Given the description of an element on the screen output the (x, y) to click on. 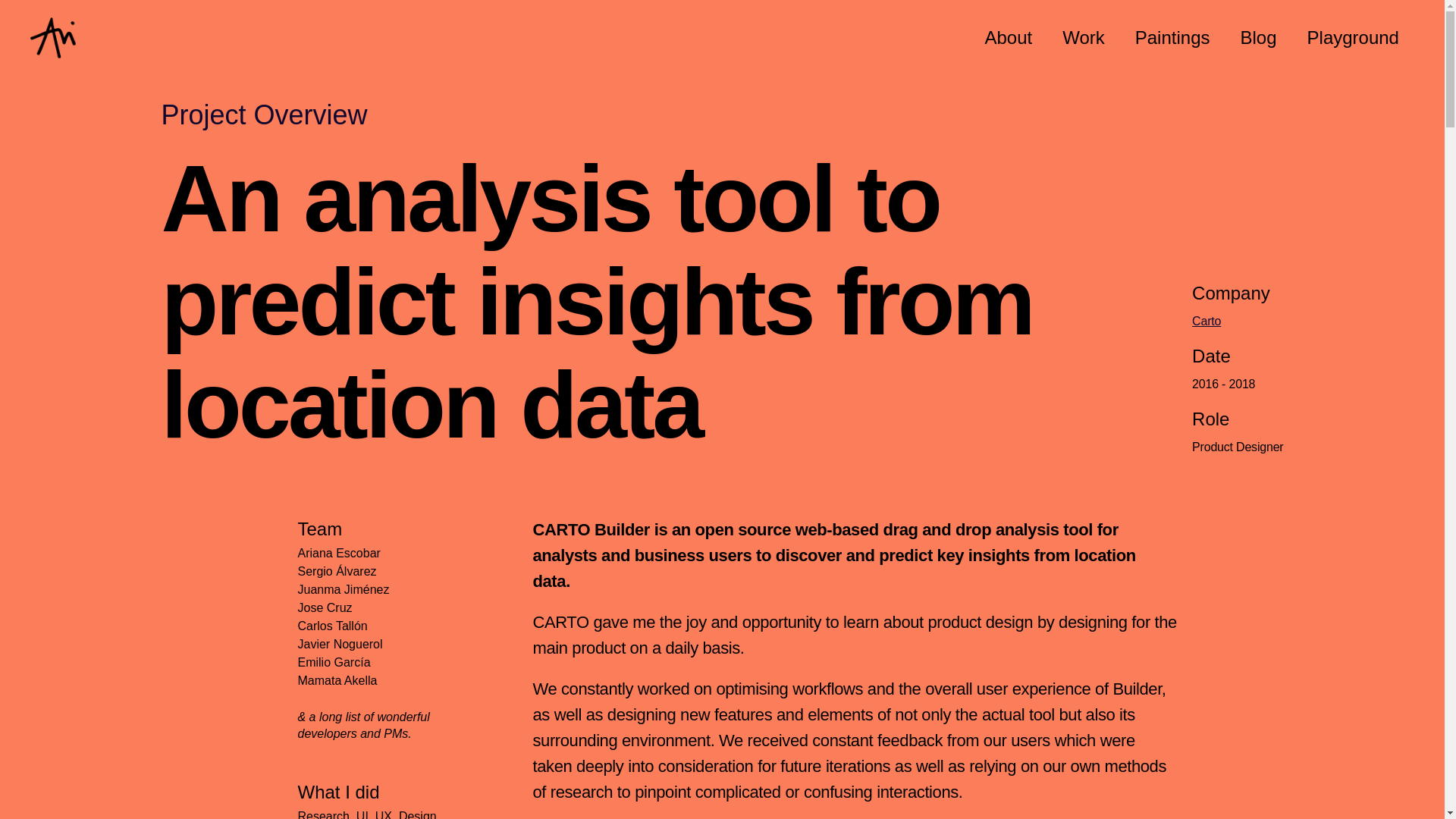
About (1007, 37)
Carto (1206, 320)
Blog (1258, 37)
Playground (1352, 37)
Work (1082, 37)
Paintings (1172, 37)
